Given the description of an element on the screen output the (x, y) to click on. 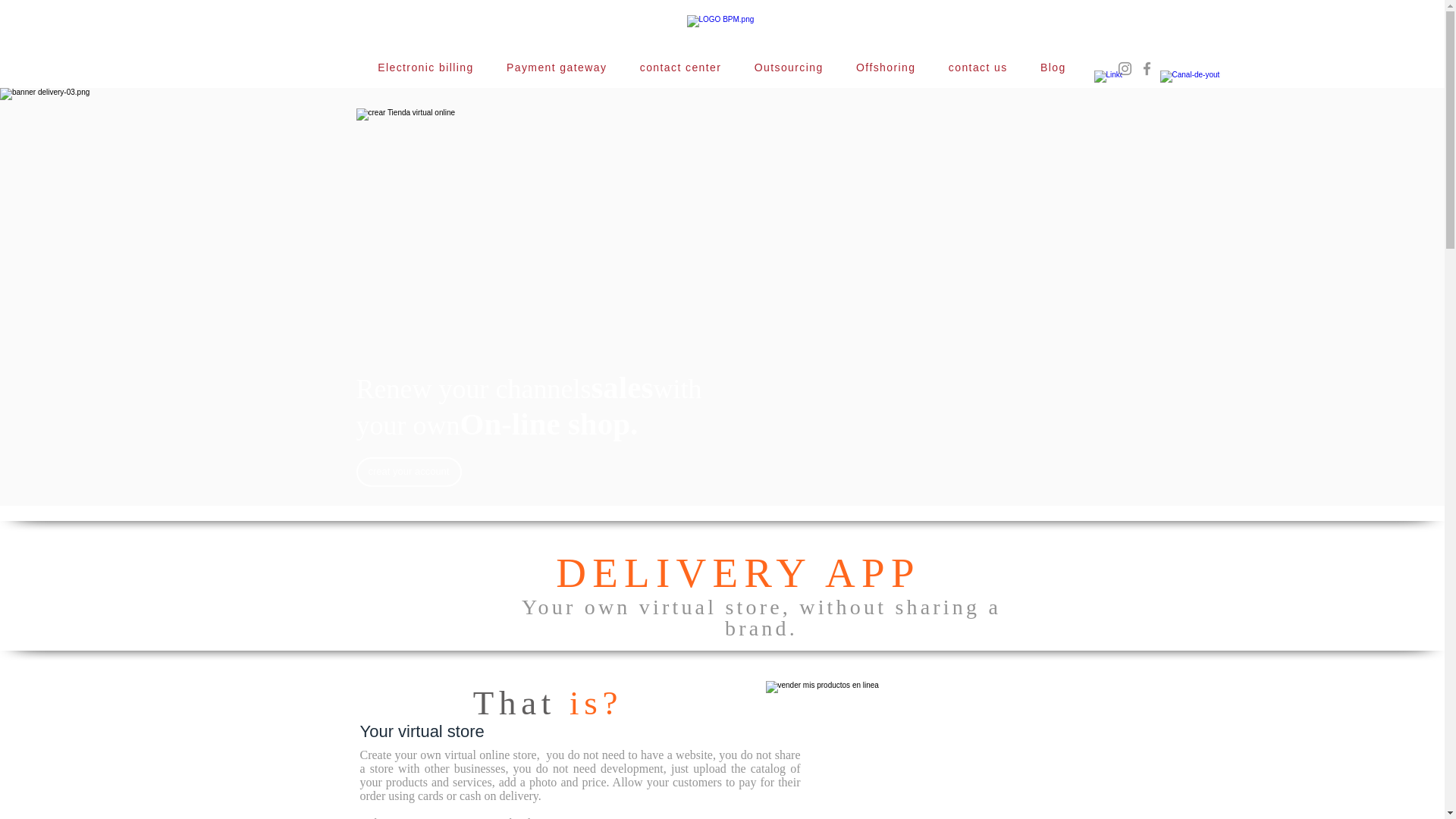
contact us (977, 67)
Blog (1052, 67)
Offshoring (885, 67)
contact center (680, 67)
Payment gateway (556, 67)
Outsourcing (788, 67)
creat your account (408, 471)
Electronic billing (425, 67)
